Given the description of an element on the screen output the (x, y) to click on. 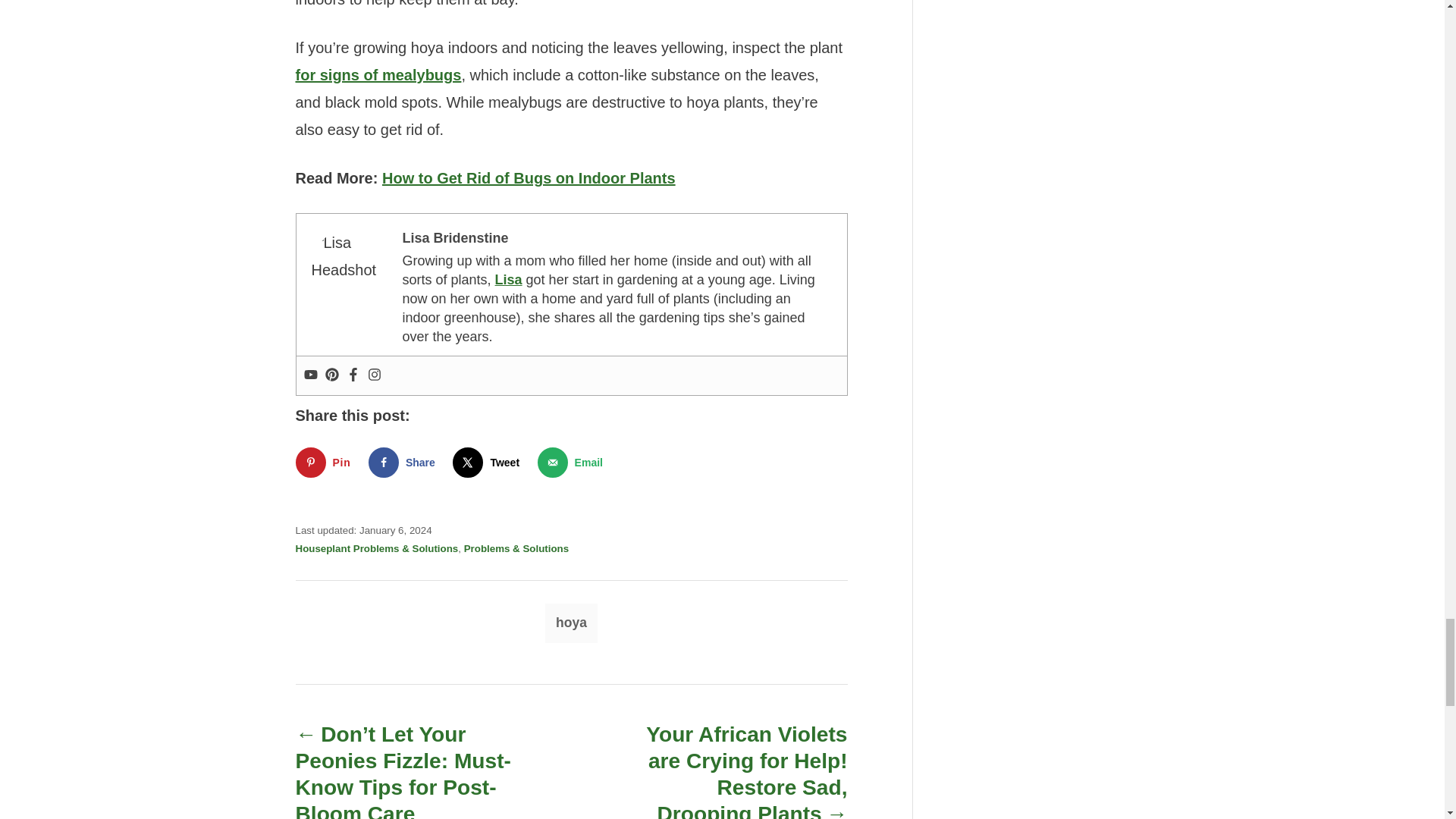
Save to Pinterest (326, 462)
